Given the description of an element on the screen output the (x, y) to click on. 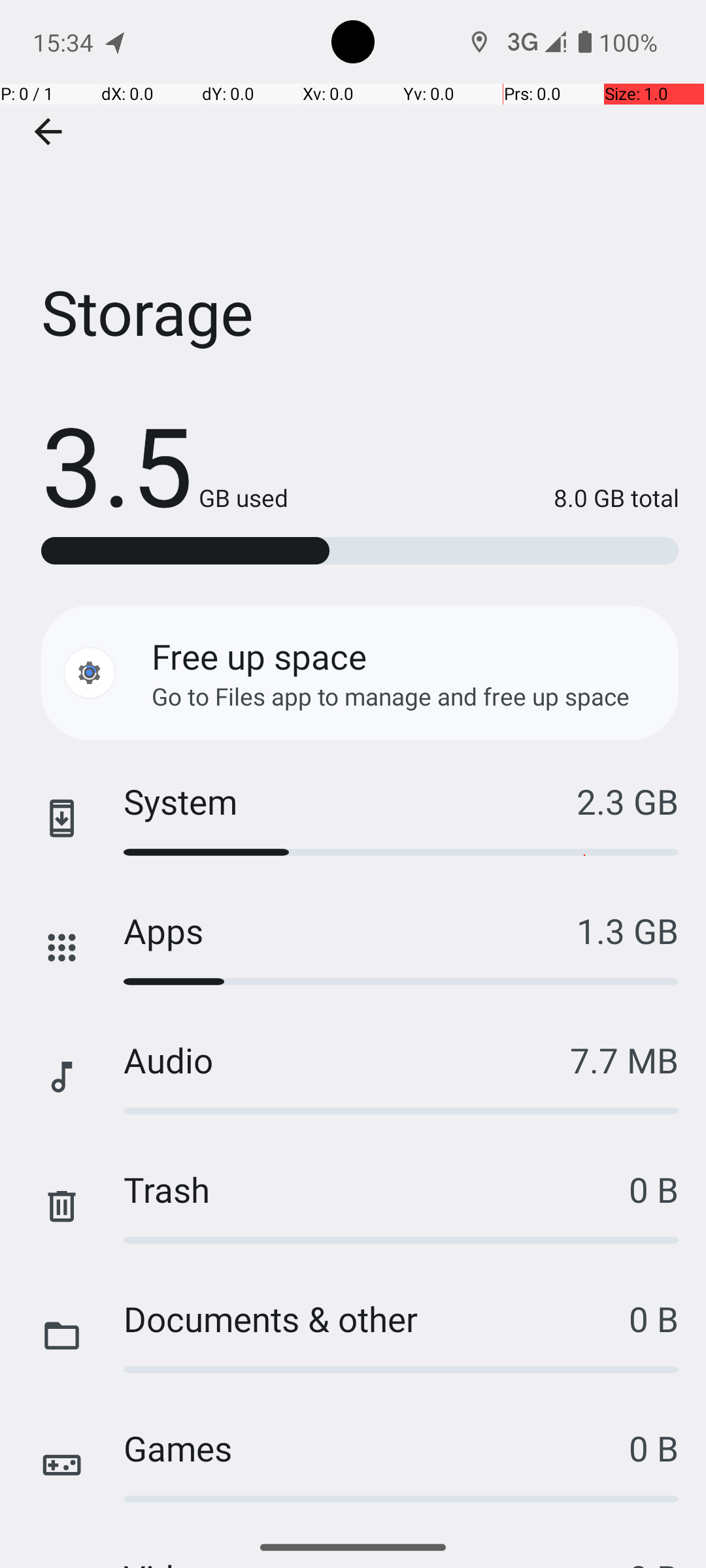
3.5 GB used Element type: android.widget.TextView (164, 463)
8.0 GB total Element type: android.widget.TextView (483, 497)
Free up space Element type: android.widget.TextView (258, 656)
Go to Files app to manage and free up space Element type: android.widget.TextView (390, 695)
2.3 GB Element type: android.widget.TextView (627, 801)
1.3 GB Element type: android.widget.TextView (627, 930)
7.7 MB Element type: android.widget.TextView (624, 1059)
Trash Element type: android.widget.TextView (375, 1189)
0 B Element type: android.widget.TextView (653, 1189)
Documents & other Element type: android.widget.TextView (375, 1318)
Games Element type: android.widget.TextView (375, 1447)
